Given the description of an element on the screen output the (x, y) to click on. 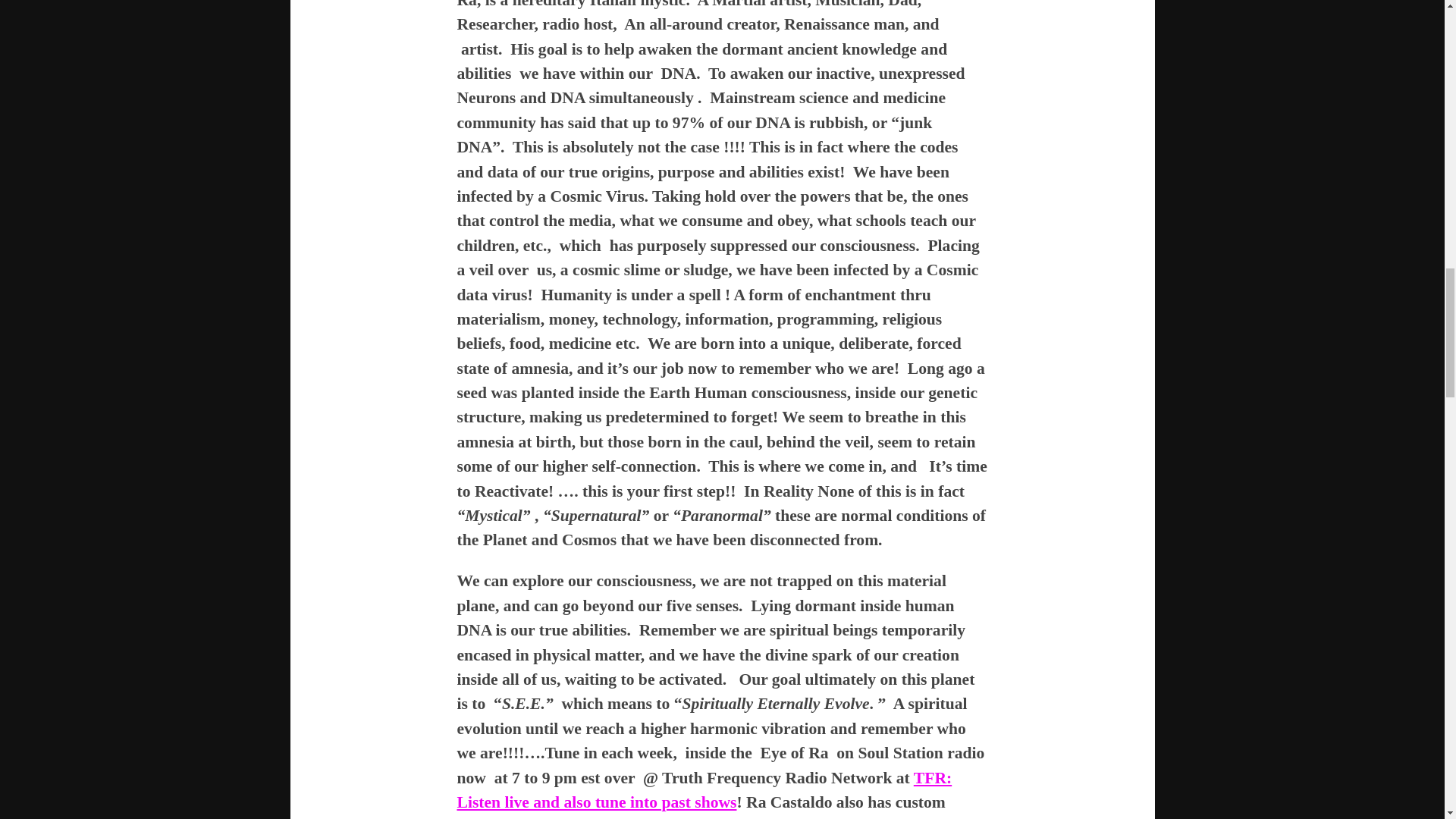
TFR: Listen live and also tune into past shows (704, 790)
